Given the description of an element on the screen output the (x, y) to click on. 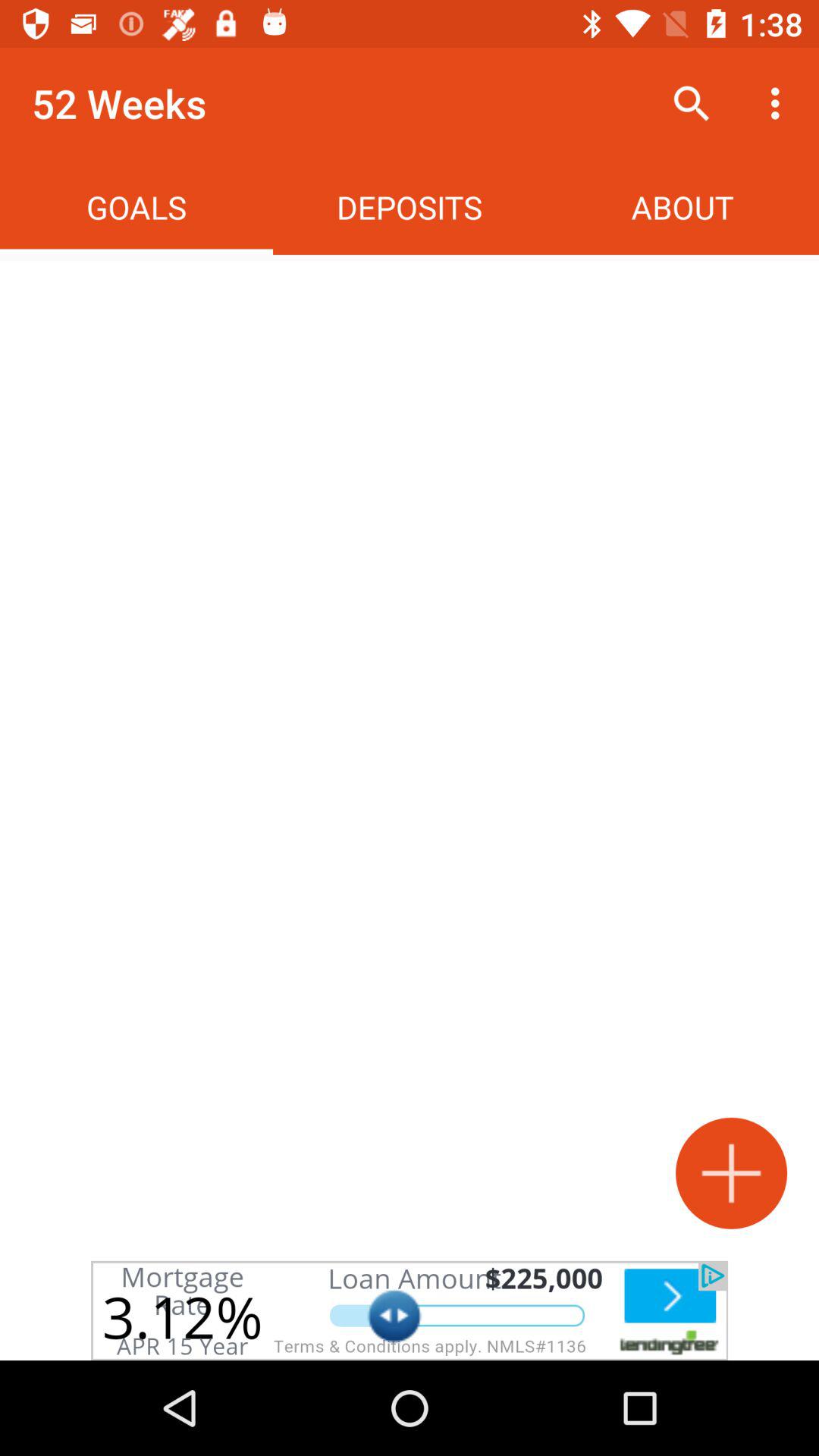
go to increase (731, 1173)
